Given the description of an element on the screen output the (x, y) to click on. 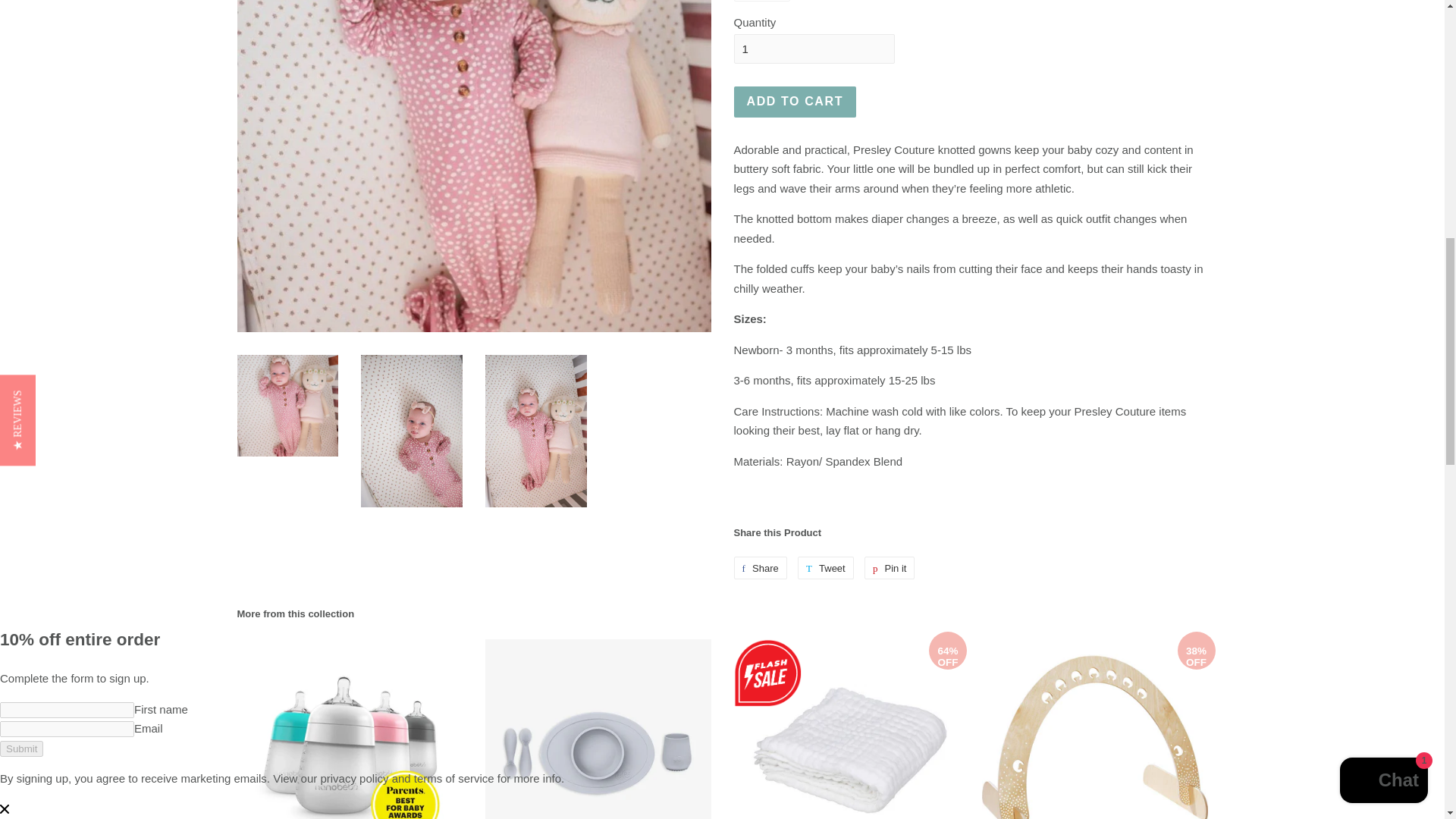
Pin on Pinterest (889, 567)
1 (814, 48)
Tweet on Twitter (825, 567)
Share on Facebook (760, 567)
